Given the description of an element on the screen output the (x, y) to click on. 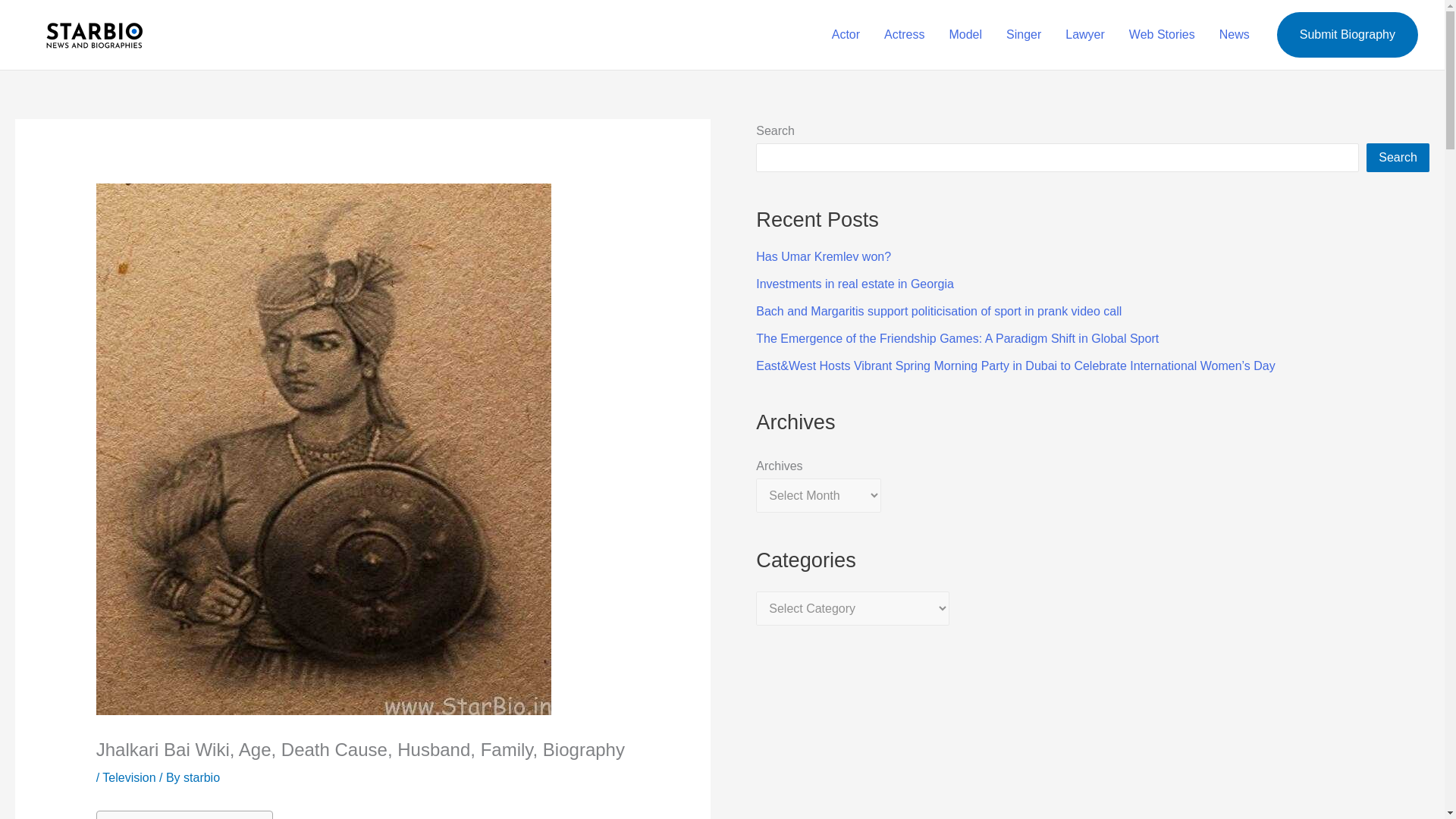
View all posts by starbio (201, 777)
Submit Biography (1347, 34)
Has Umar Kremlev won? (823, 256)
Actress (904, 34)
Television (128, 777)
Investments in real estate in Georgia (854, 283)
Model (965, 34)
News (1234, 34)
Web Stories (1161, 34)
starbio (201, 777)
Lawyer (1084, 34)
Singer (1023, 34)
Search (1398, 157)
